Given the description of an element on the screen output the (x, y) to click on. 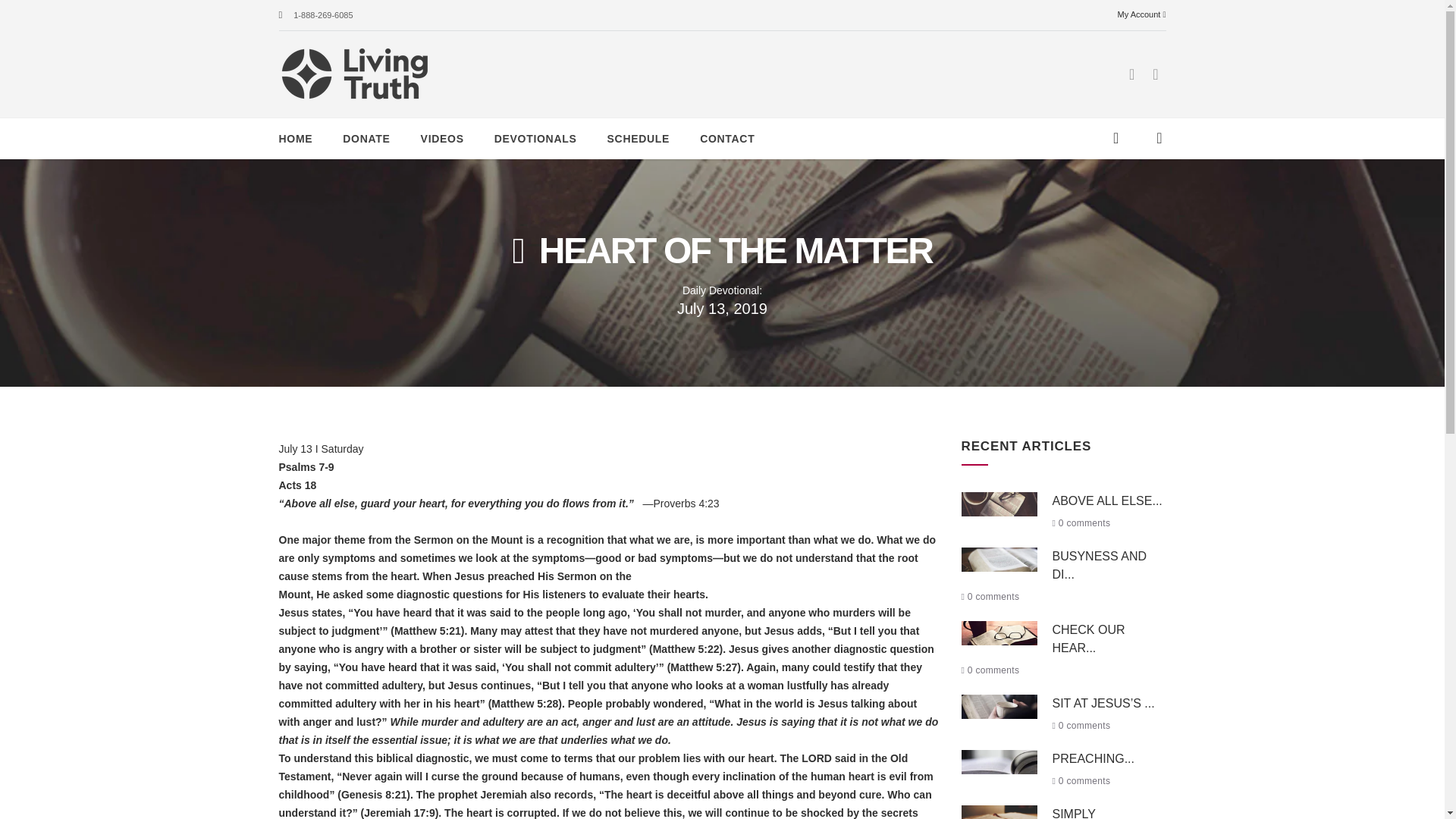
CHECK OUR HEAR... (1092, 638)
VIDEOS (442, 138)
CONTACT (727, 138)
My Account (1142, 13)
HOME (296, 138)
DONATE (366, 138)
PREACHING... (1093, 758)
BUSYNESS AND DI... (1099, 564)
SIMPLY FAITHFUL... (1085, 813)
Give the gift of reach (1159, 140)
ABOVE ALL ELSE... (1106, 500)
SCHEDULE (638, 138)
DEVOTIONALS (535, 138)
